Given the description of an element on the screen output the (x, y) to click on. 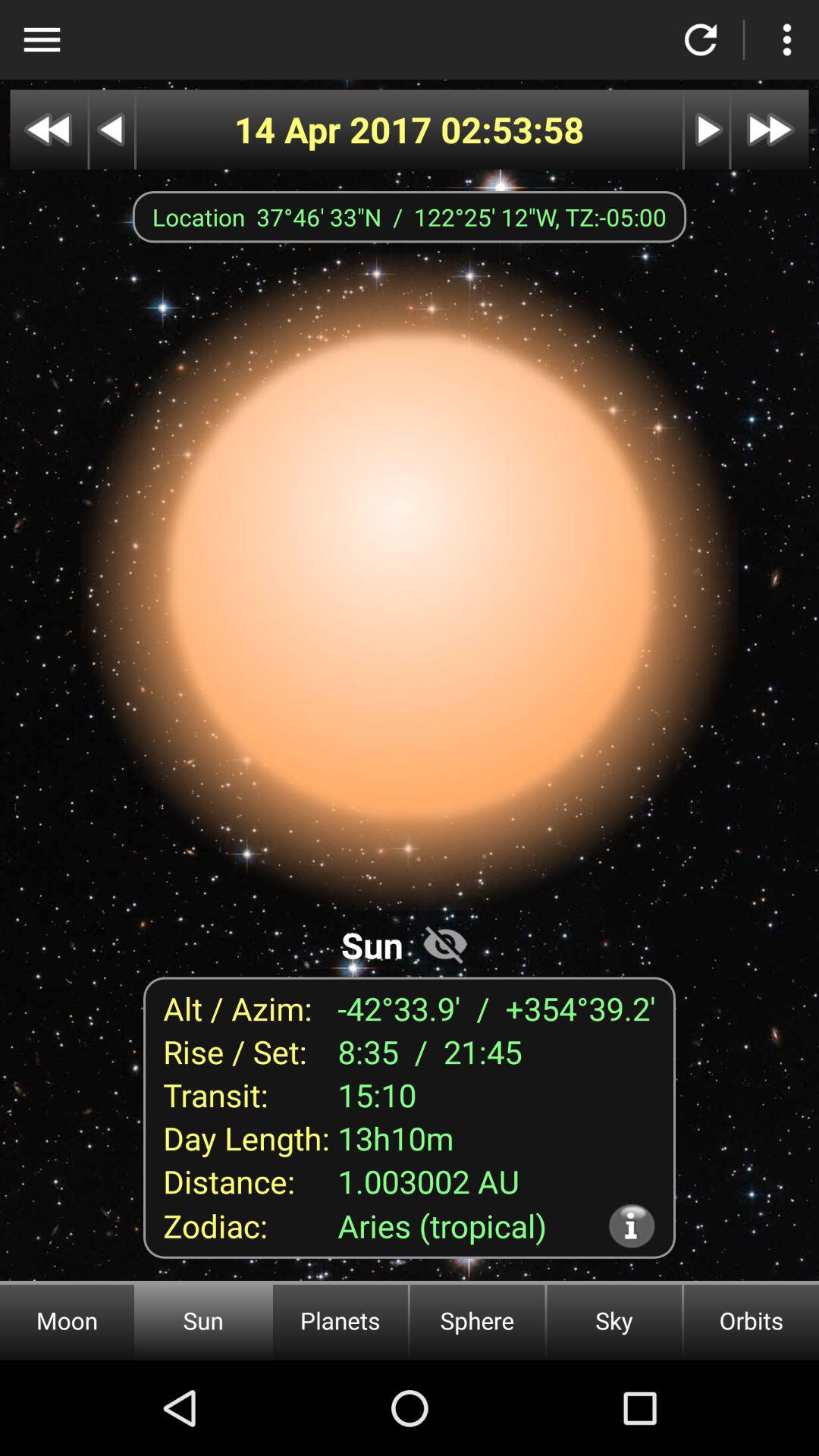
go to more information (631, 1225)
